Given the description of an element on the screen output the (x, y) to click on. 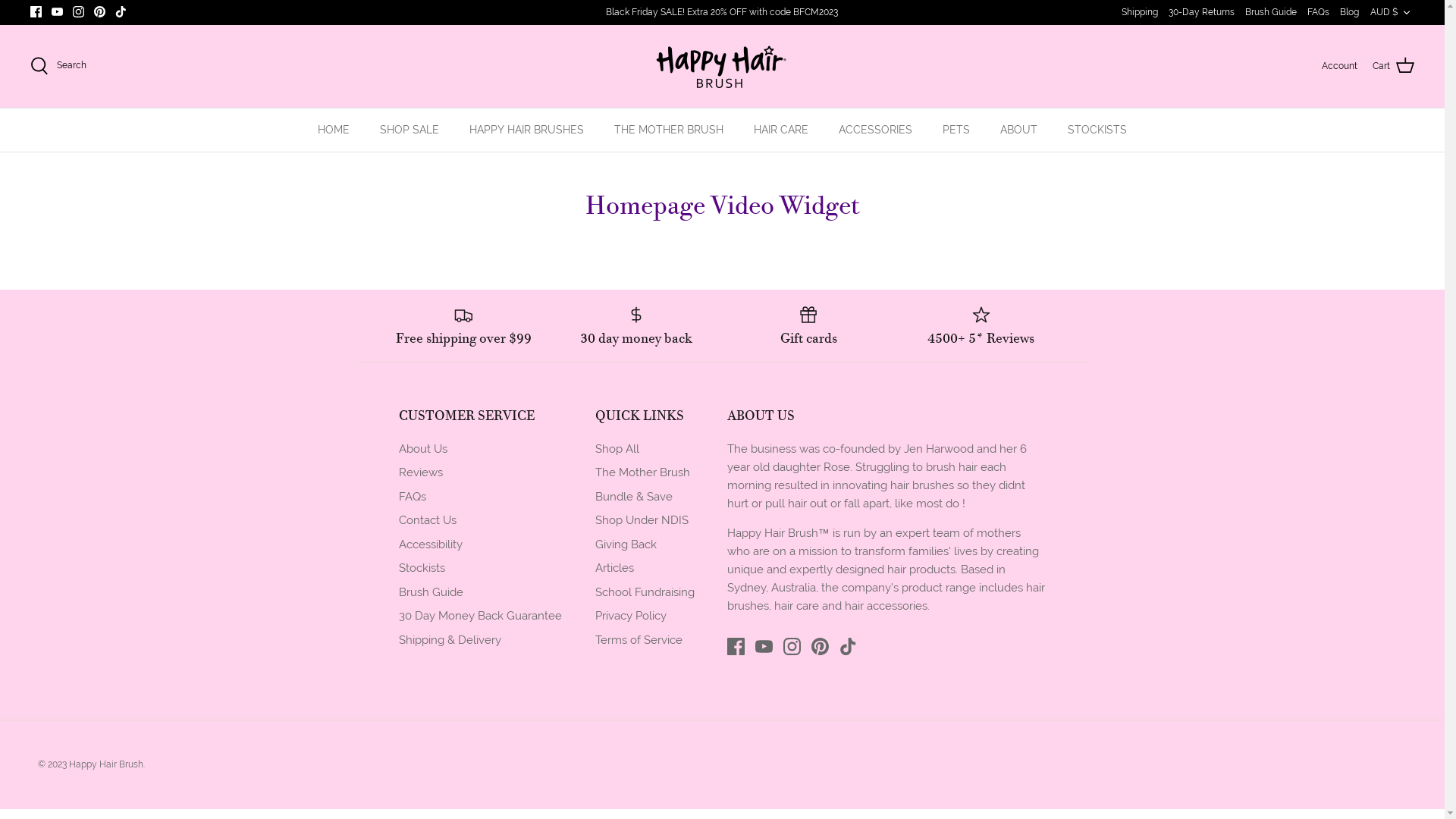
Facebook Element type: text (35, 11)
Brush Guide Element type: text (1270, 12)
Contact Us Element type: text (427, 520)
Accessibility Element type: text (430, 544)
Blog Element type: text (1348, 12)
Reviews Element type: text (420, 472)
Shop All Element type: text (616, 448)
Articles Element type: text (613, 567)
The Mother Brush Element type: text (641, 472)
Youtube Element type: text (56, 11)
Pinterest Element type: text (99, 11)
Shipping & Delivery Element type: text (449, 639)
School Fundraising Element type: text (643, 592)
FAQs Element type: text (412, 496)
Free shipping over $99 Element type: text (463, 325)
THE MOTHER BRUSH Element type: text (668, 129)
Pinterest Element type: text (819, 646)
Terms of Service Element type: text (637, 639)
Brush Guide Element type: text (430, 592)
About Us Element type: text (422, 448)
Youtube Element type: text (763, 646)
Account Element type: text (1339, 66)
Cart Element type: text (1393, 65)
HAIR CARE Element type: text (781, 129)
30 Day Money Back Guarantee Element type: text (479, 615)
HAPPY HAIR BRUSHES Element type: text (526, 129)
Stockists Element type: text (421, 567)
ABOUT Element type: text (1018, 129)
Instagram Element type: text (791, 646)
Happy Hair Brush Element type: hover (721, 66)
Shop Under NDIS Element type: text (640, 520)
Bundle & Save Element type: text (632, 496)
Facebook Element type: text (735, 646)
HOME Element type: text (333, 129)
Shipping Element type: text (1139, 12)
AUD $
Down Element type: text (1392, 12)
STOCKISTS Element type: text (1097, 129)
Instagram Element type: text (78, 11)
Happy Hair Brush Element type: text (106, 764)
ACCESSORIES Element type: text (875, 129)
Search Element type: text (58, 65)
FAQs Element type: text (1318, 12)
Giving Back Element type: text (624, 544)
SHOP SALE Element type: text (409, 129)
Gift cards Element type: text (809, 325)
30 day money back Element type: text (636, 325)
Privacy Policy Element type: text (629, 615)
PETS Element type: text (955, 129)
30-Day Returns Element type: text (1201, 12)
4500+ 5* Reviews Element type: text (981, 325)
